Given the description of an element on the screen output the (x, y) to click on. 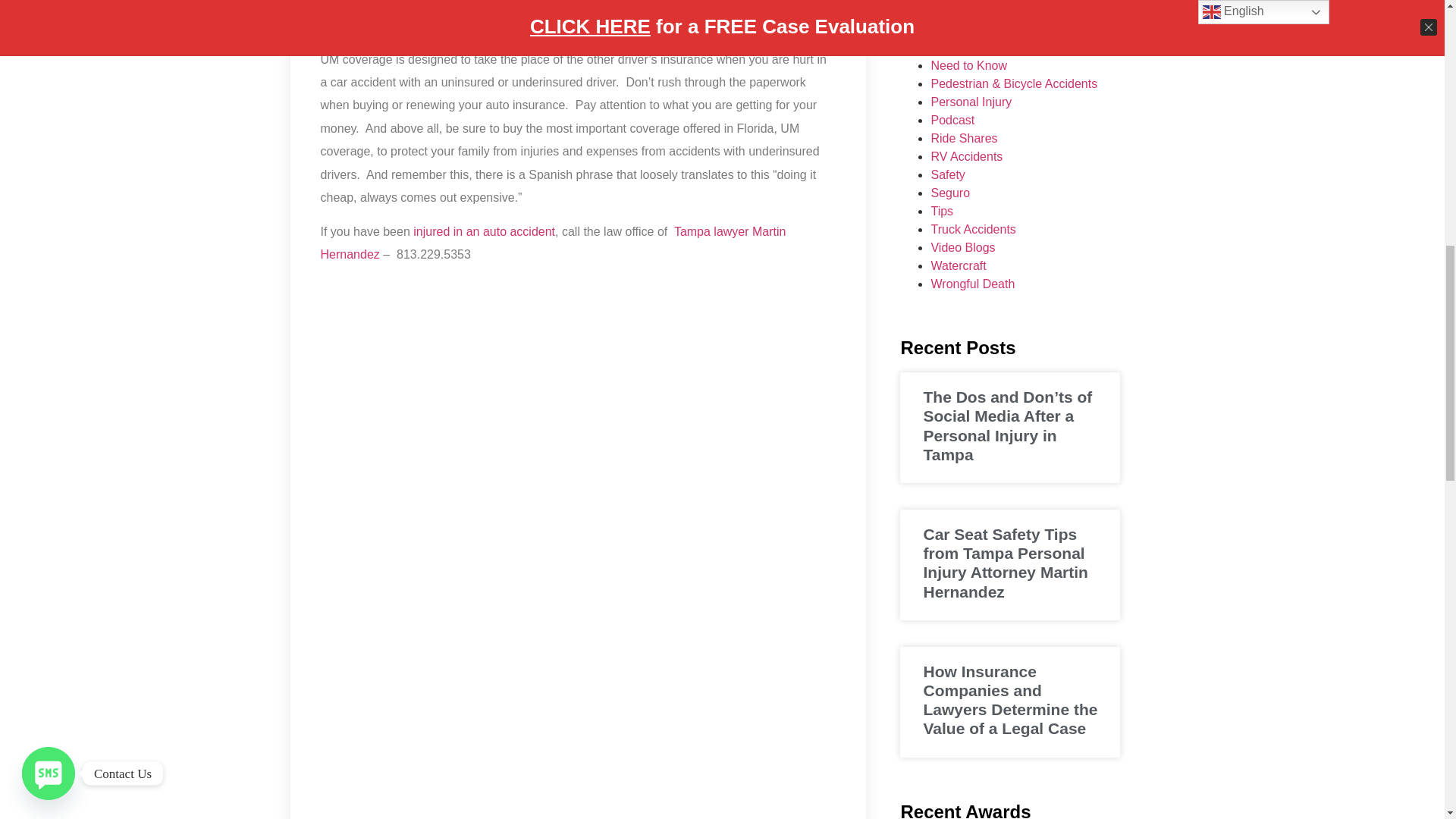
Auto Accidents (483, 231)
